Given the description of an element on the screen output the (x, y) to click on. 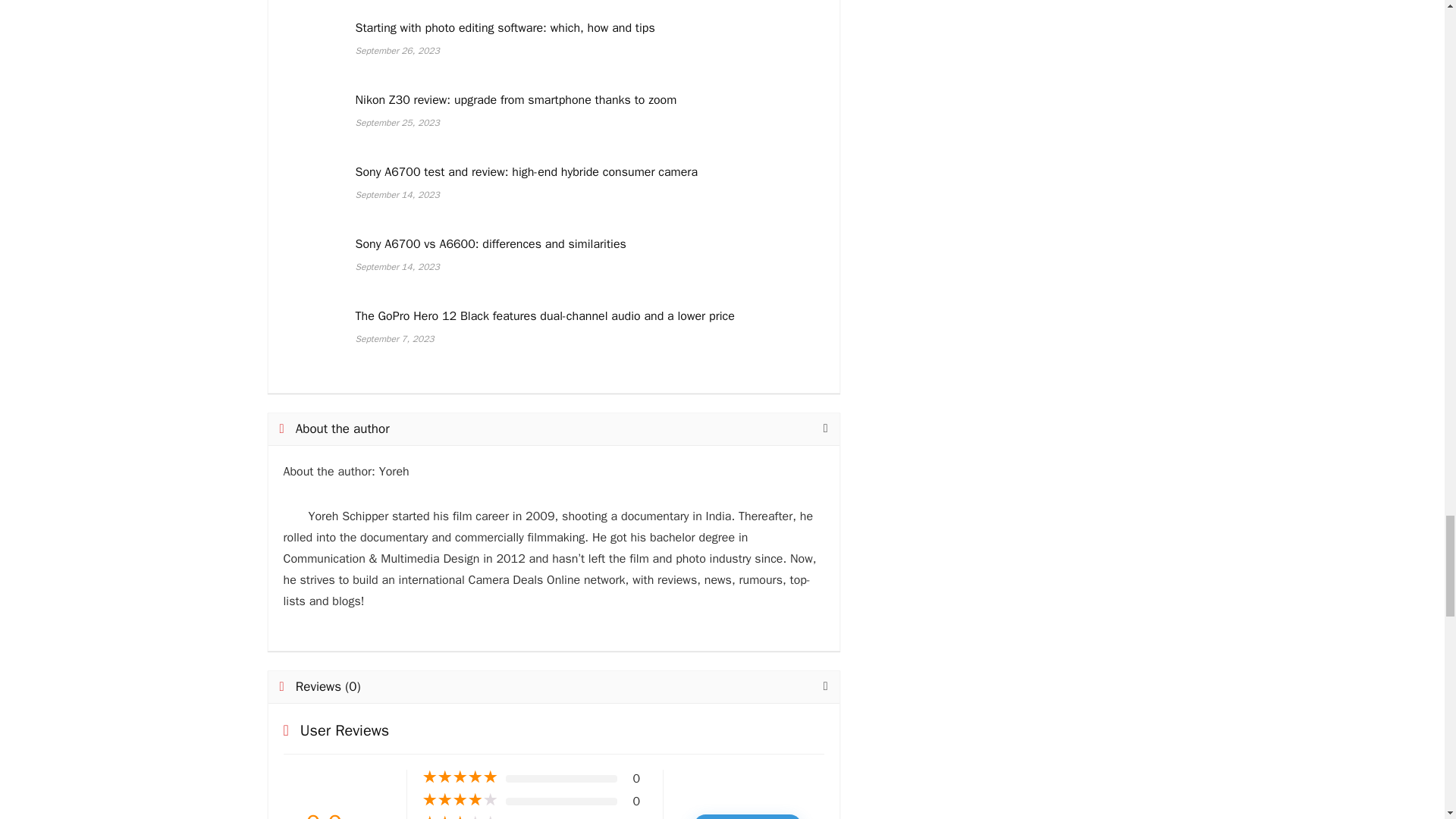
Rated 3 out of 5 (459, 816)
Rated 4 out of 5 (459, 799)
WRITE A REVIEW (747, 816)
Rated 5 out of 5 (459, 776)
